Given the description of an element on the screen output the (x, y) to click on. 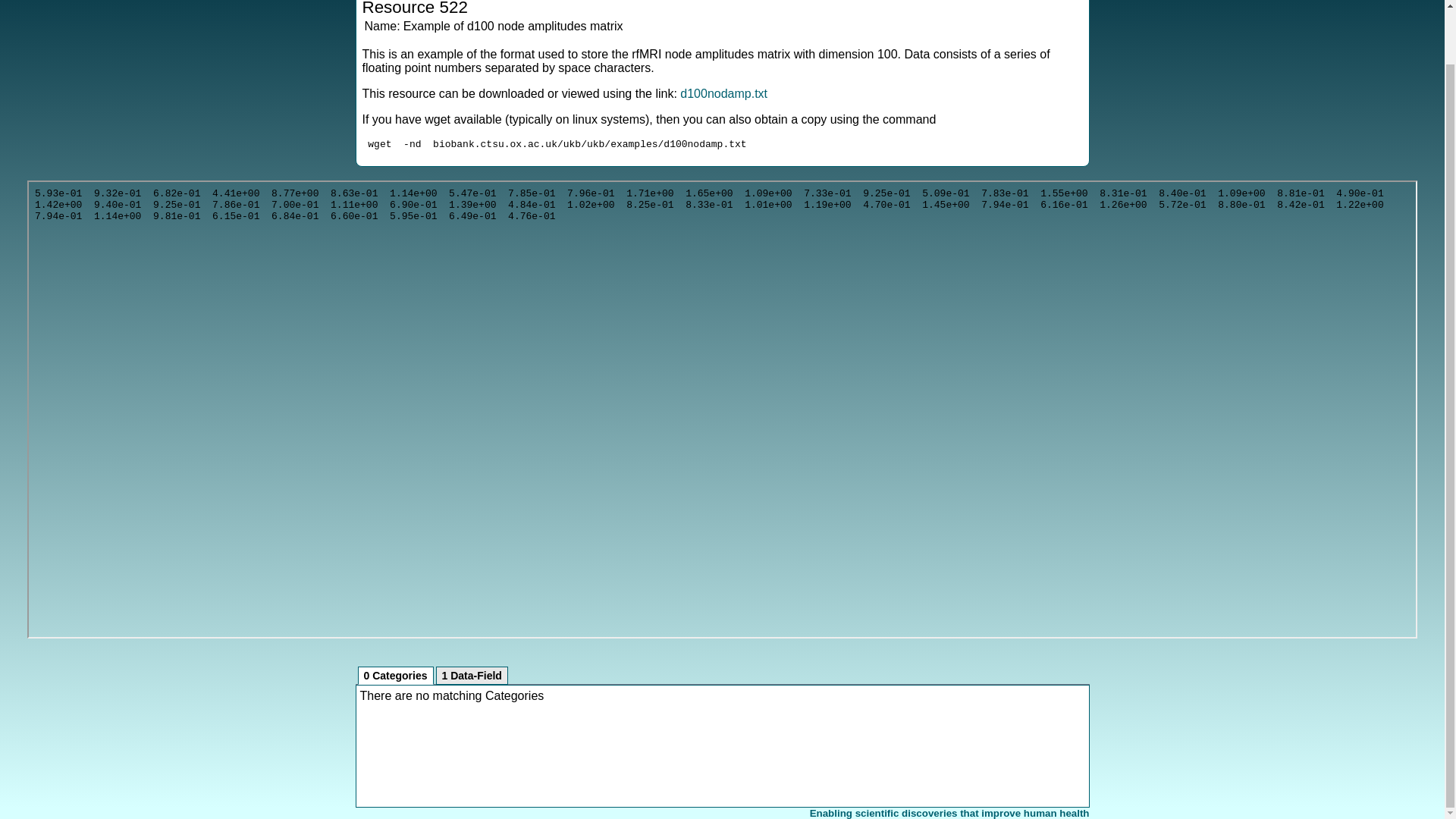
1 Data-Field (471, 675)
0 Categories (395, 675)
d100nodamp.txt (723, 92)
